Given the description of an element on the screen output the (x, y) to click on. 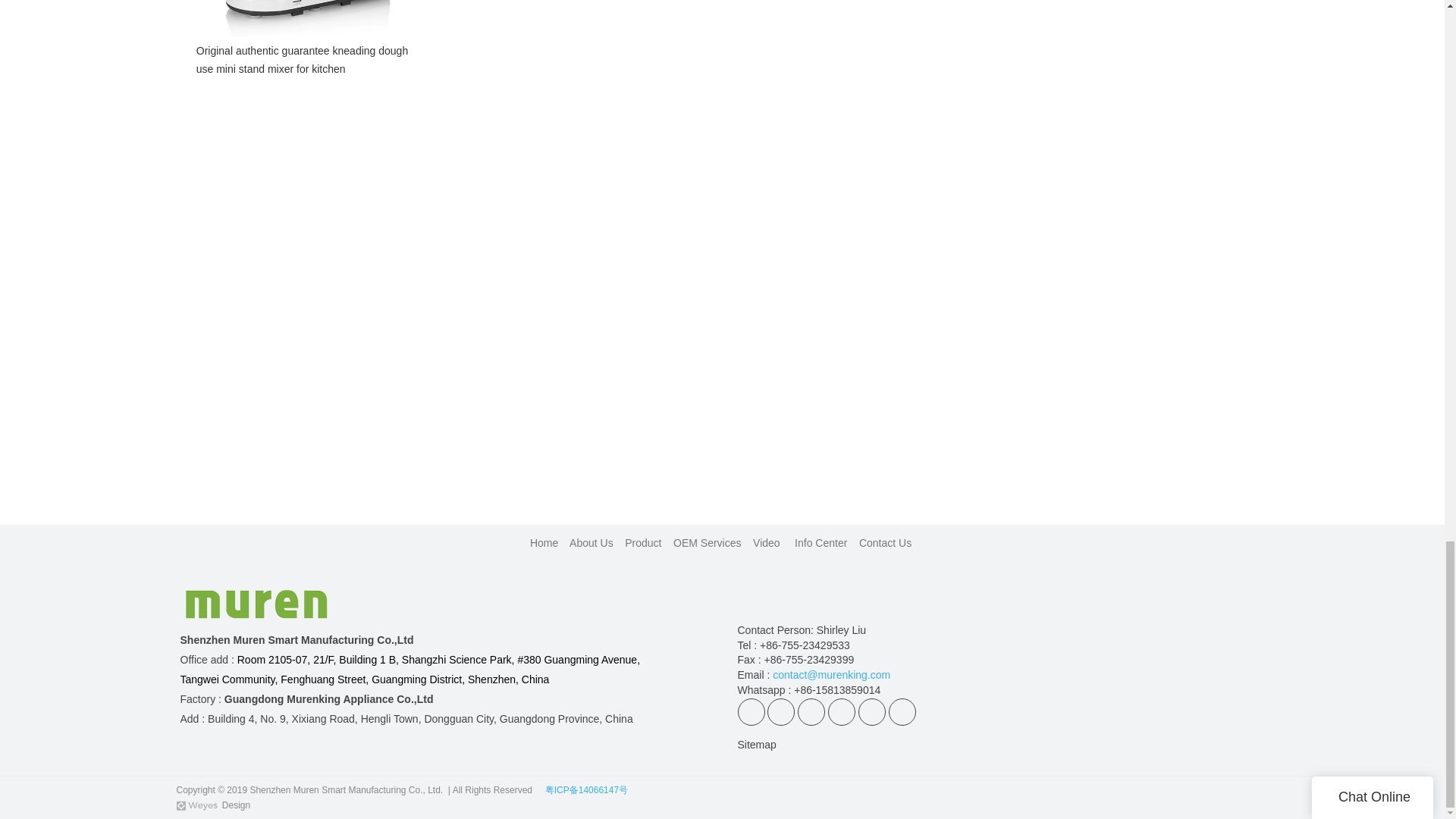
Home (543, 542)
 Product  (642, 542)
OEM Services  (708, 542)
About Us (590, 542)
